Given the description of an element on the screen output the (x, y) to click on. 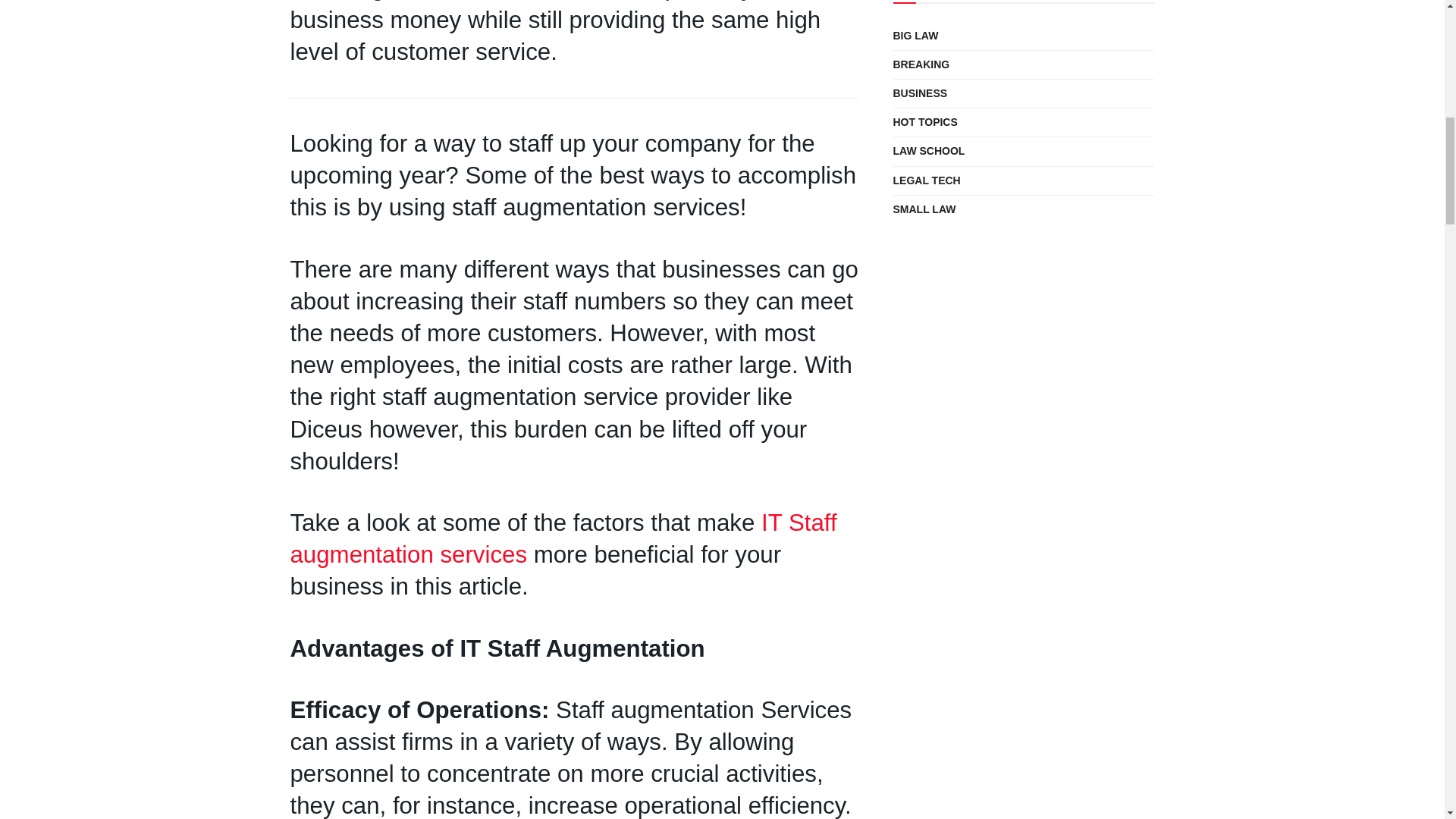
IT Staff augmentation services (562, 538)
